Given the description of an element on the screen output the (x, y) to click on. 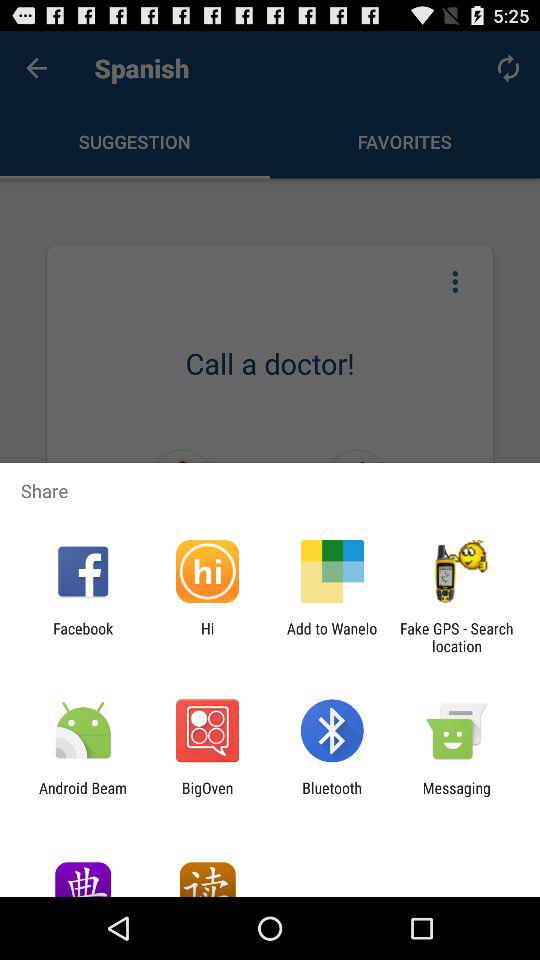
select icon next to add to wanelo app (456, 637)
